Given the description of an element on the screen output the (x, y) to click on. 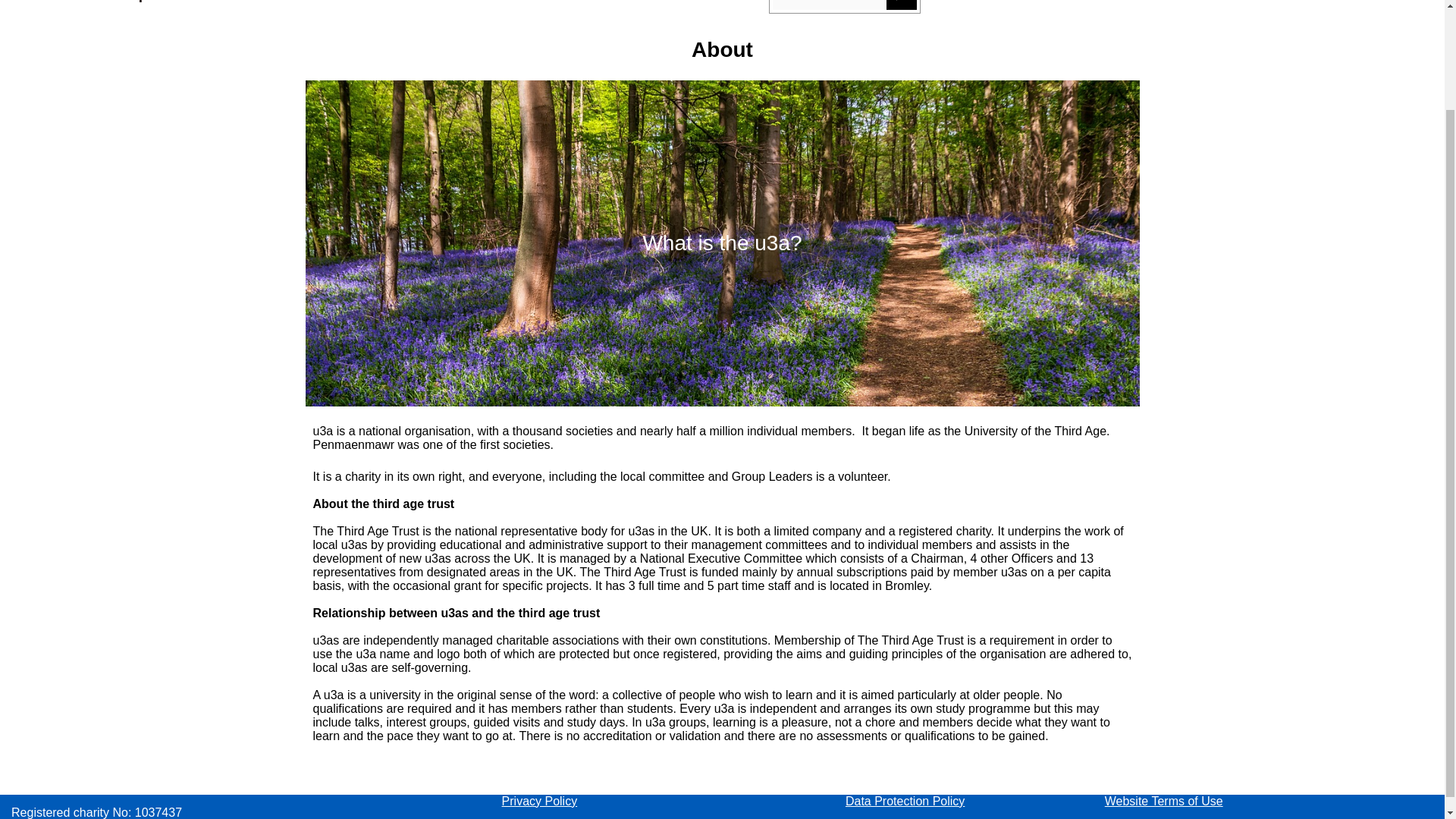
Contact Us (405, 8)
Home (42, 8)
Website Terms of Use (1164, 800)
Data Protection Policy (904, 800)
Groups (129, 6)
Privacy Policy (540, 800)
Events (219, 8)
News (596, 8)
About (303, 8)
Join Us (510, 8)
Members (687, 8)
